Given the description of an element on the screen output the (x, y) to click on. 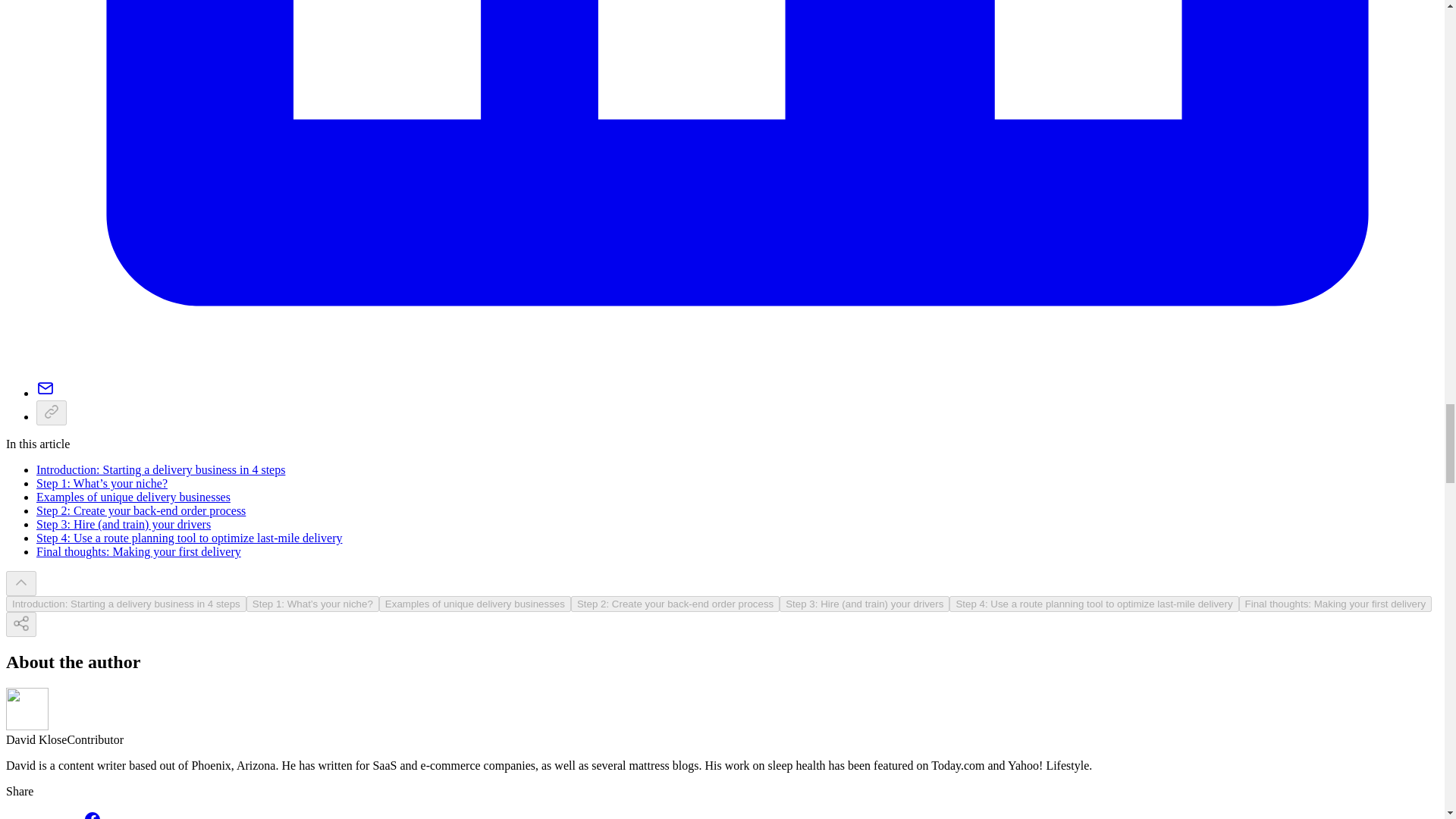
Click to copy (51, 412)
Click to expand the table of contents (863, 603)
Click to expand the table of contents (674, 603)
Click to expand the table of contents (474, 603)
Click to expand the table of contents (312, 603)
Click to expand the table of contents (125, 603)
x (20, 583)
Click to expand the table of contents (1094, 603)
